Given the description of an element on the screen output the (x, y) to click on. 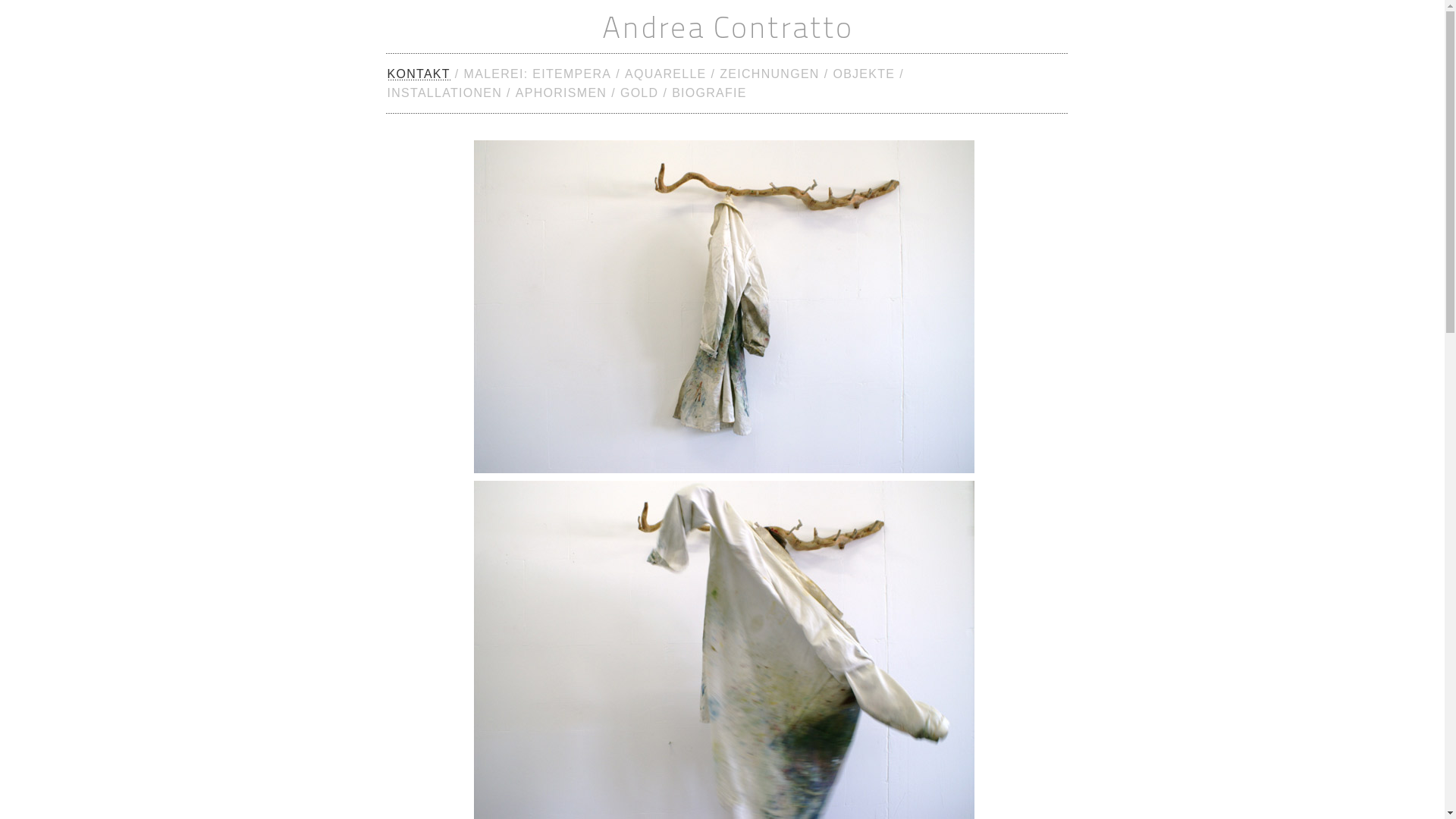
INSTALLATIONEN Element type: text (444, 92)
KONTAKT Element type: text (417, 73)
OBJEKTE Element type: text (863, 73)
BIOGRAFIE Element type: text (708, 92)
APHORISMEN Element type: text (560, 92)
AQUARELLE Element type: text (665, 73)
ZEICHNUNGEN Element type: text (769, 73)
MALEREI: EITEMPERA Element type: text (537, 73)
GOLD Element type: text (639, 92)
